Given the description of an element on the screen output the (x, y) to click on. 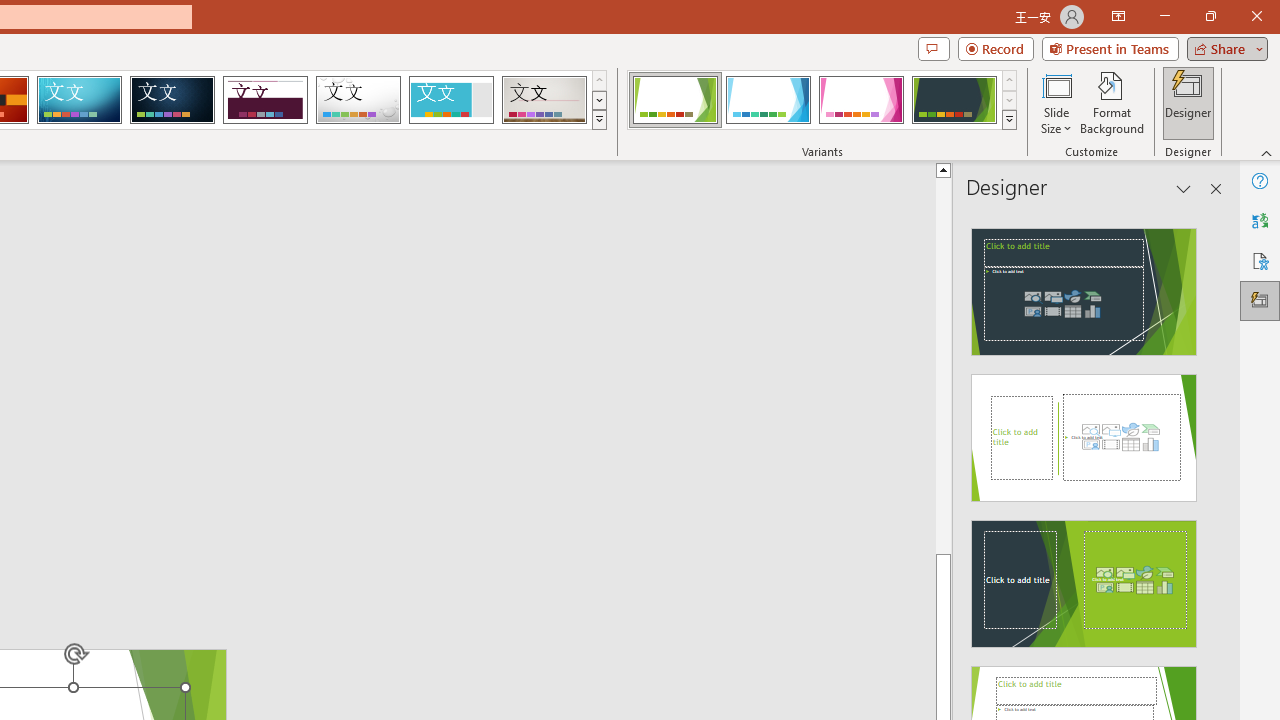
Circuit (79, 100)
Damask (171, 100)
Facet Variant 3 (861, 100)
Format Background (1111, 102)
Dividend (265, 100)
Facet Variant 1 (674, 100)
